Given the description of an element on the screen output the (x, y) to click on. 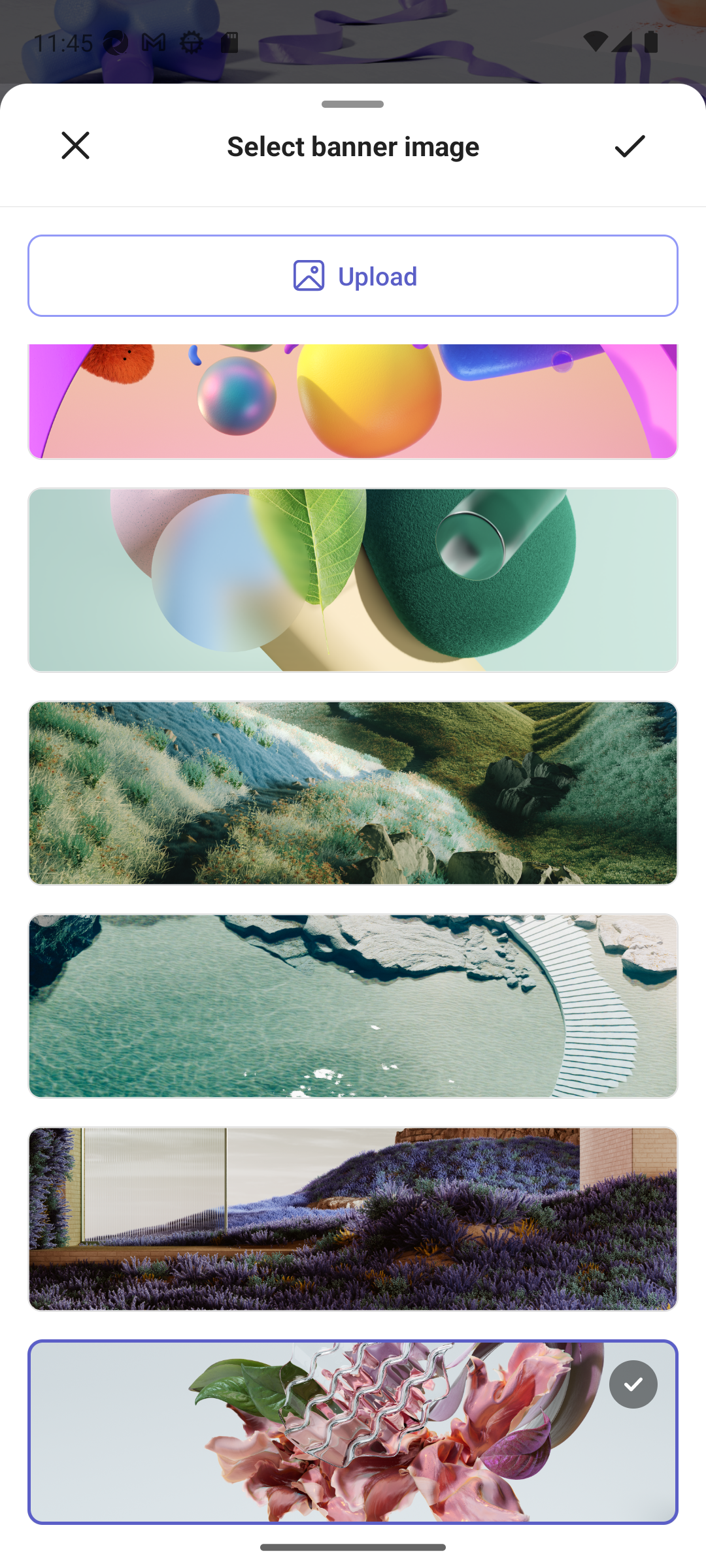
Cancel (75, 145)
Save (630, 145)
Upload (352, 275)
